Given the description of an element on the screen output the (x, y) to click on. 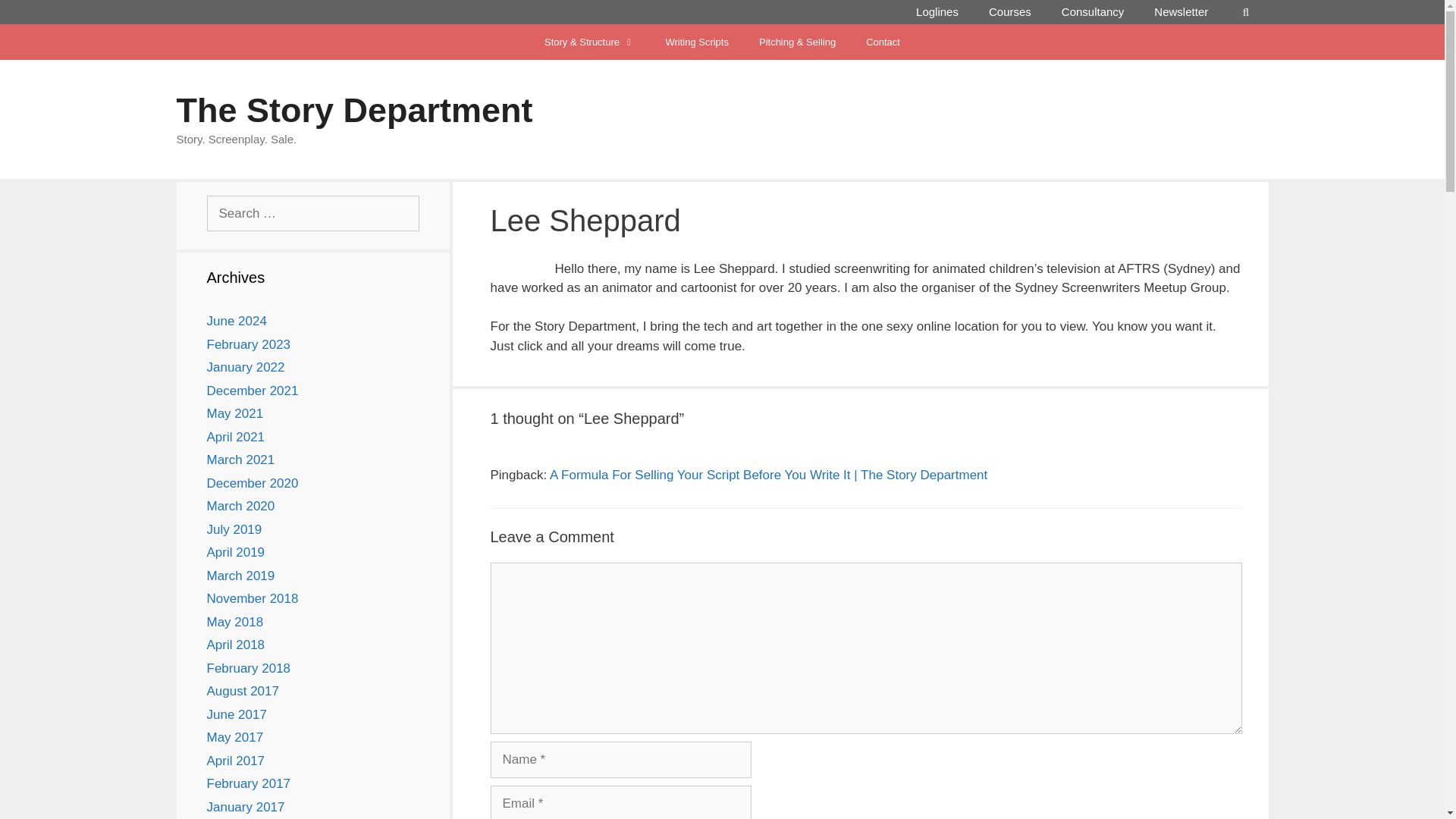
March 2019 (240, 575)
Newsletter (1180, 12)
Loglines (937, 12)
May 2021 (234, 413)
Contact (882, 41)
August 2017 (242, 690)
April 2017 (235, 760)
June 2017 (236, 713)
March 2021 (240, 459)
February 2023 (247, 343)
